Given the description of an element on the screen output the (x, y) to click on. 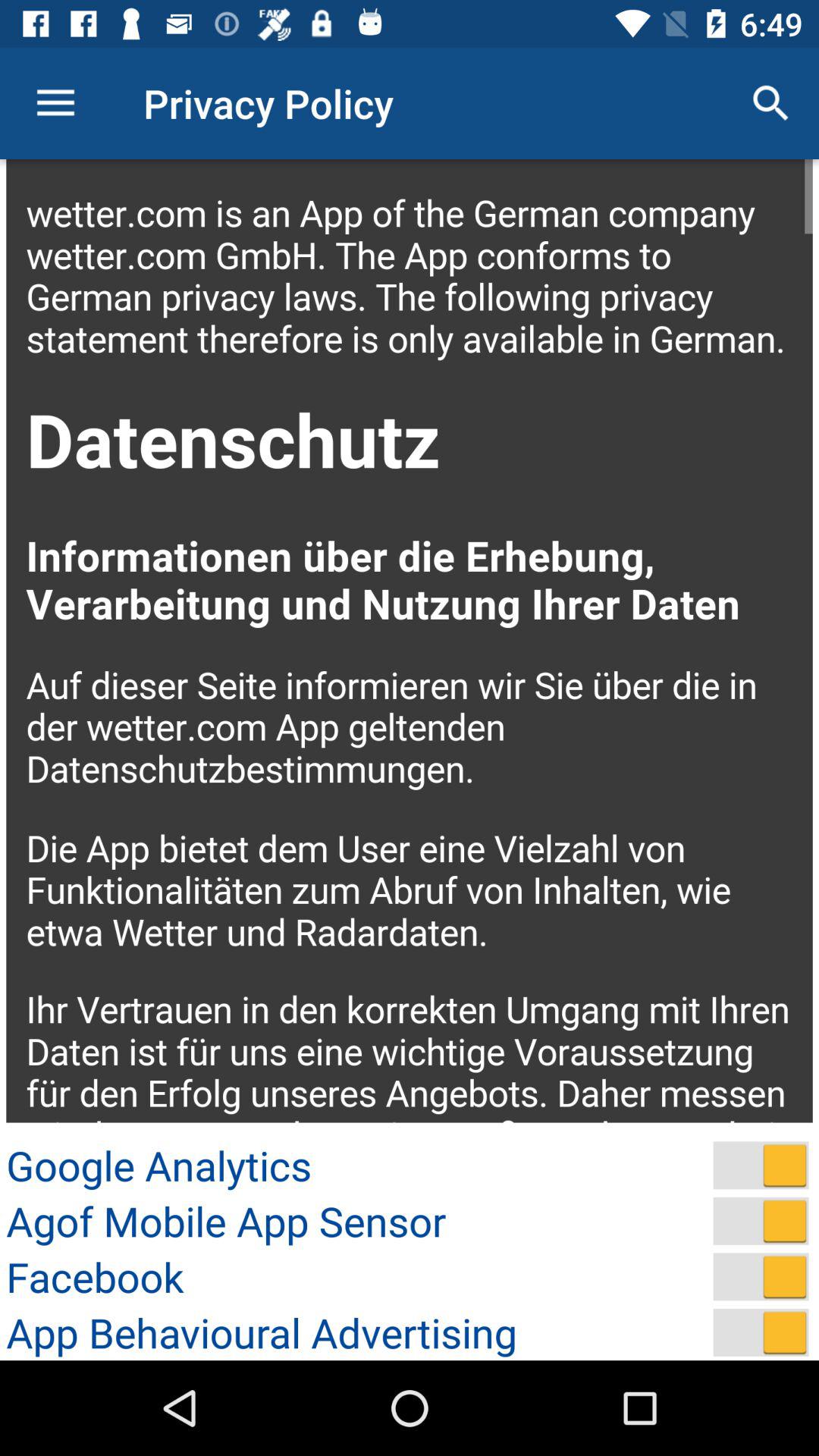
toggle facebook off (760, 1276)
